Given the description of an element on the screen output the (x, y) to click on. 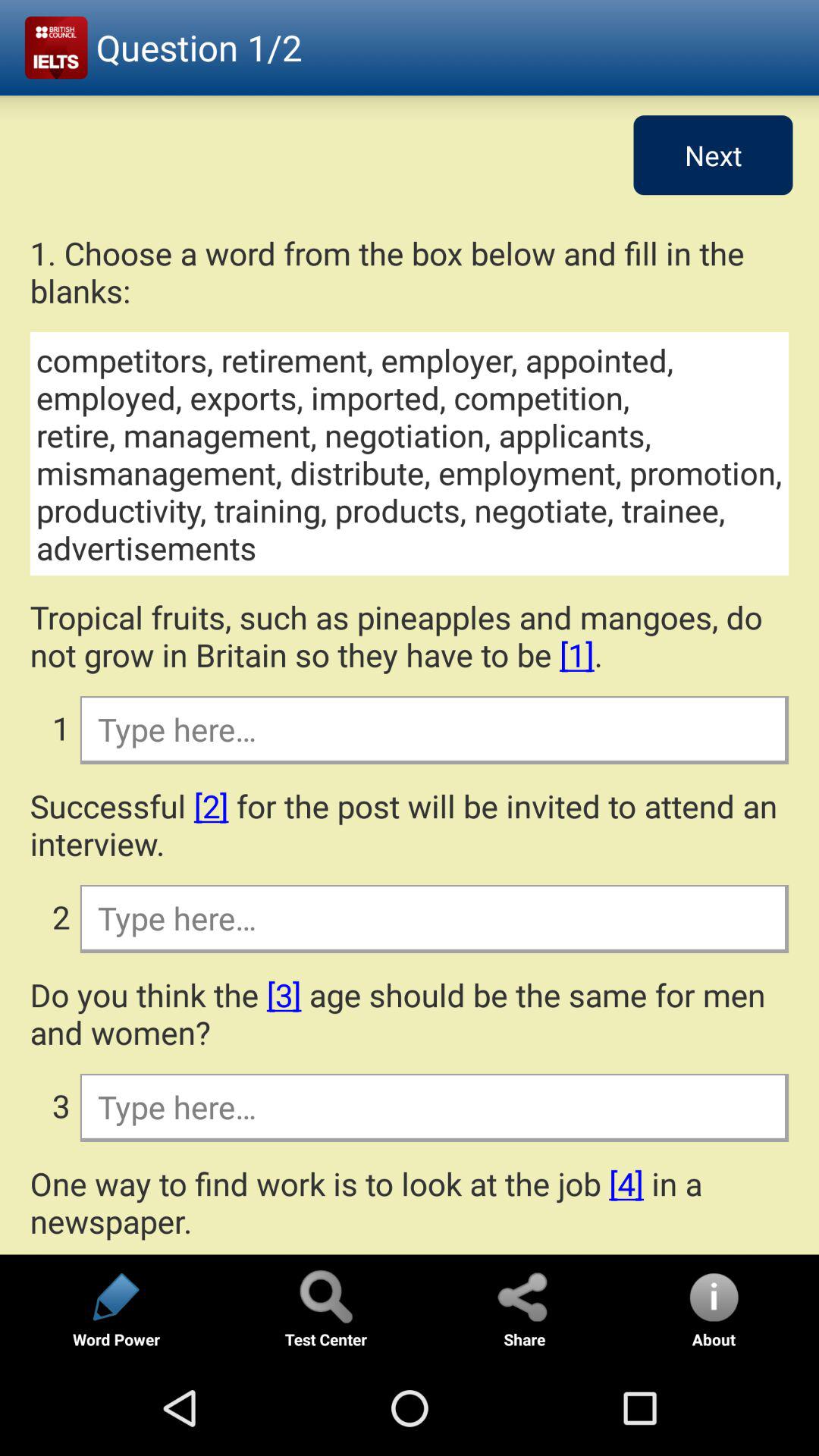
click the item above competitors retirement employer (409, 271)
